Given the description of an element on the screen output the (x, y) to click on. 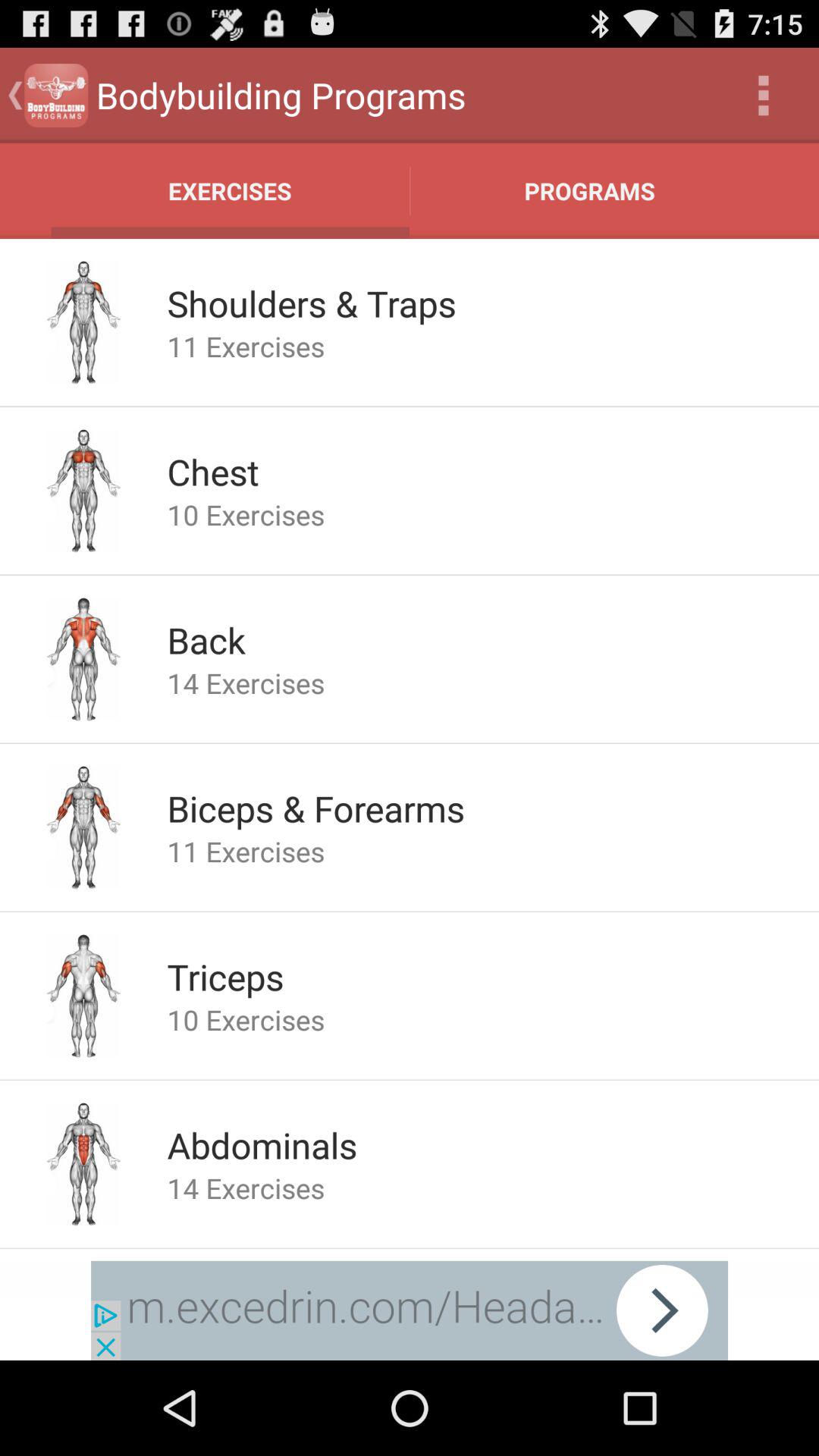
advertisement (409, 1310)
